Given the description of an element on the screen output the (x, y) to click on. 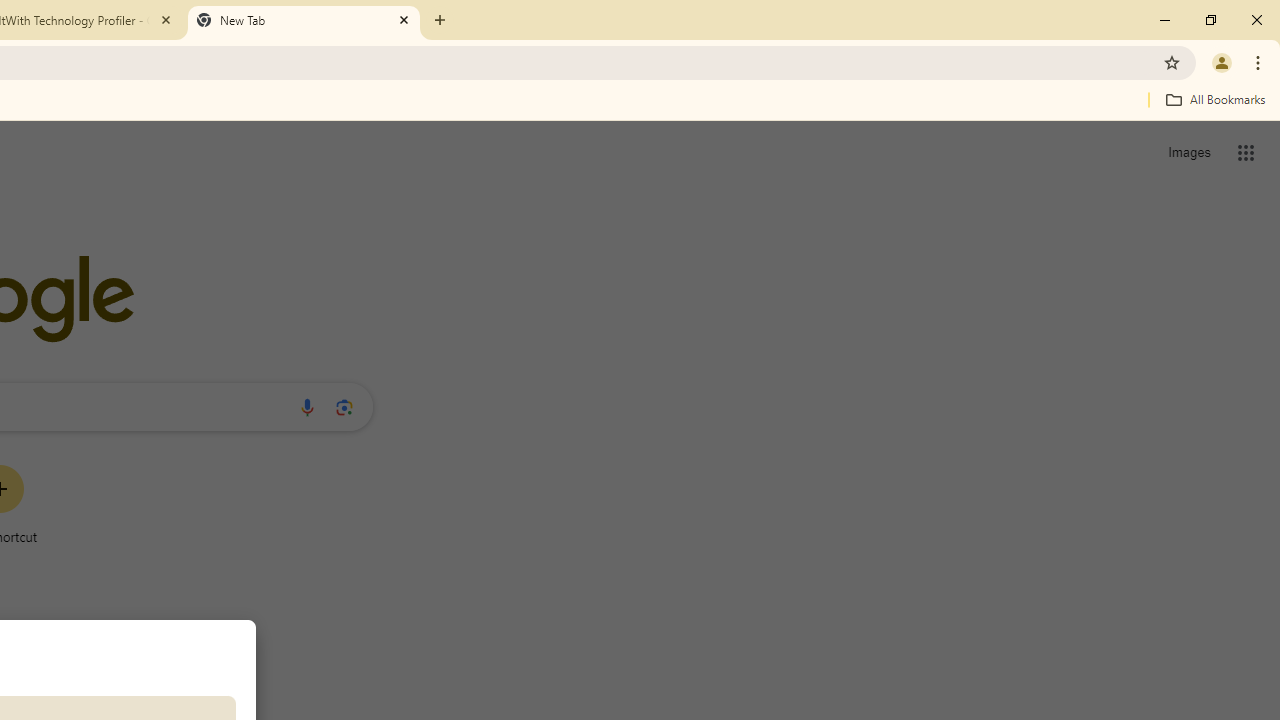
New Tab (304, 20)
